Given the description of an element on the screen output the (x, y) to click on. 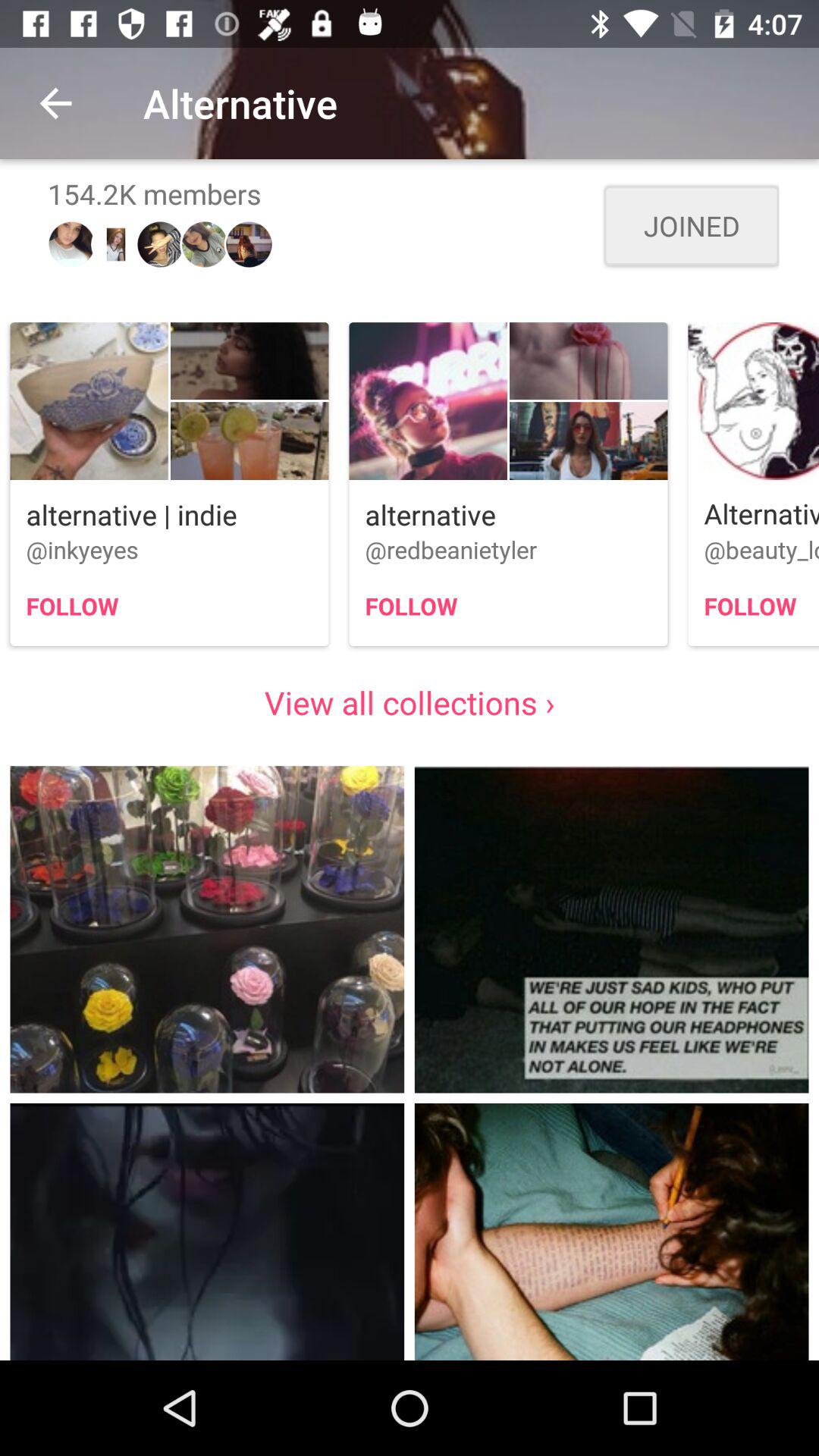
press joined icon (691, 225)
